Given the description of an element on the screen output the (x, y) to click on. 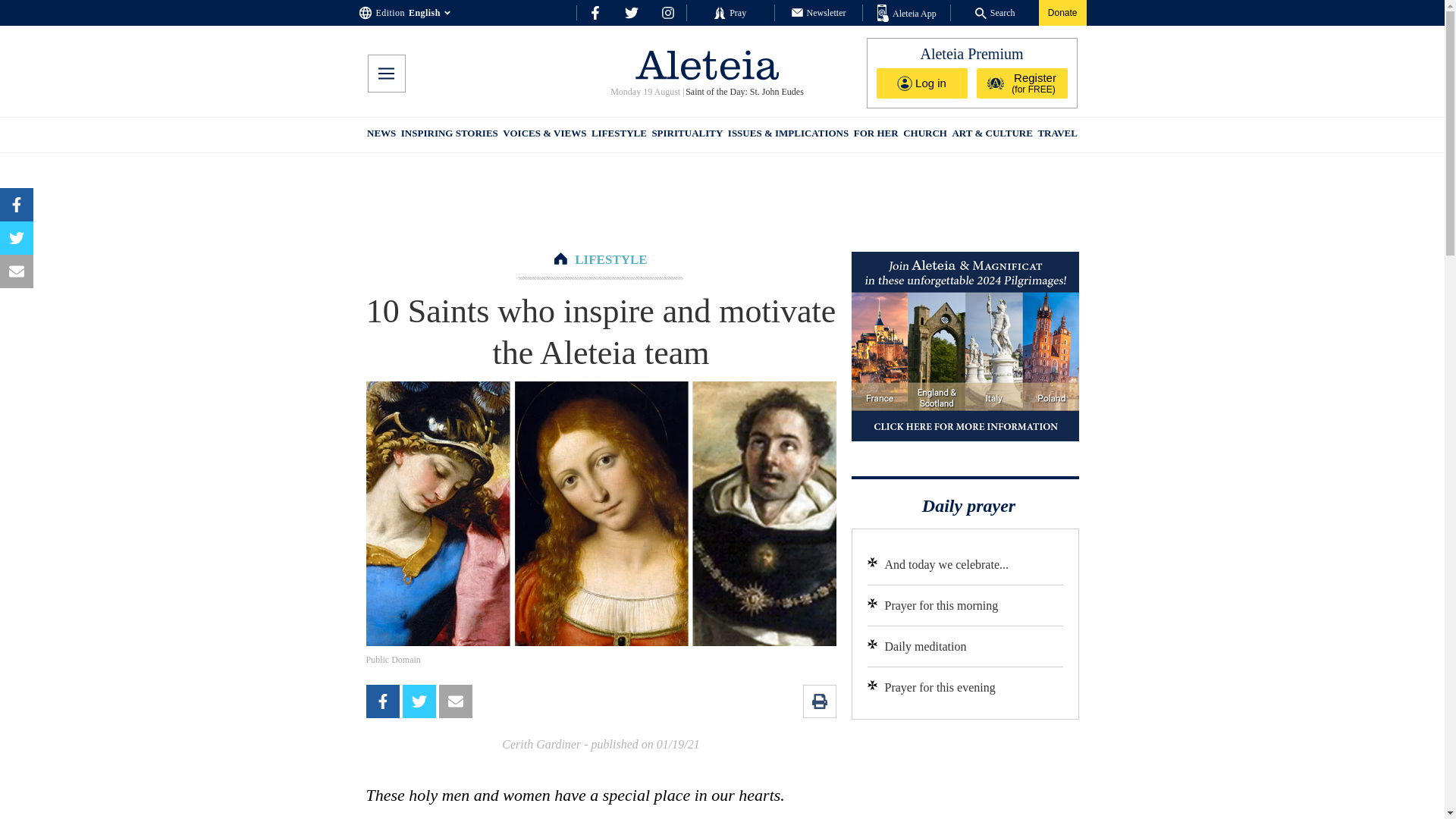
Cerith Gardiner (541, 744)
LIFESTYLE (610, 259)
Pray (729, 12)
Donate (1062, 12)
Log in (922, 82)
Aleteia App (906, 13)
TRAVEL (1056, 134)
Search (994, 12)
FOR HER (875, 134)
social-fb-top-row (595, 12)
